Given the description of an element on the screen output the (x, y) to click on. 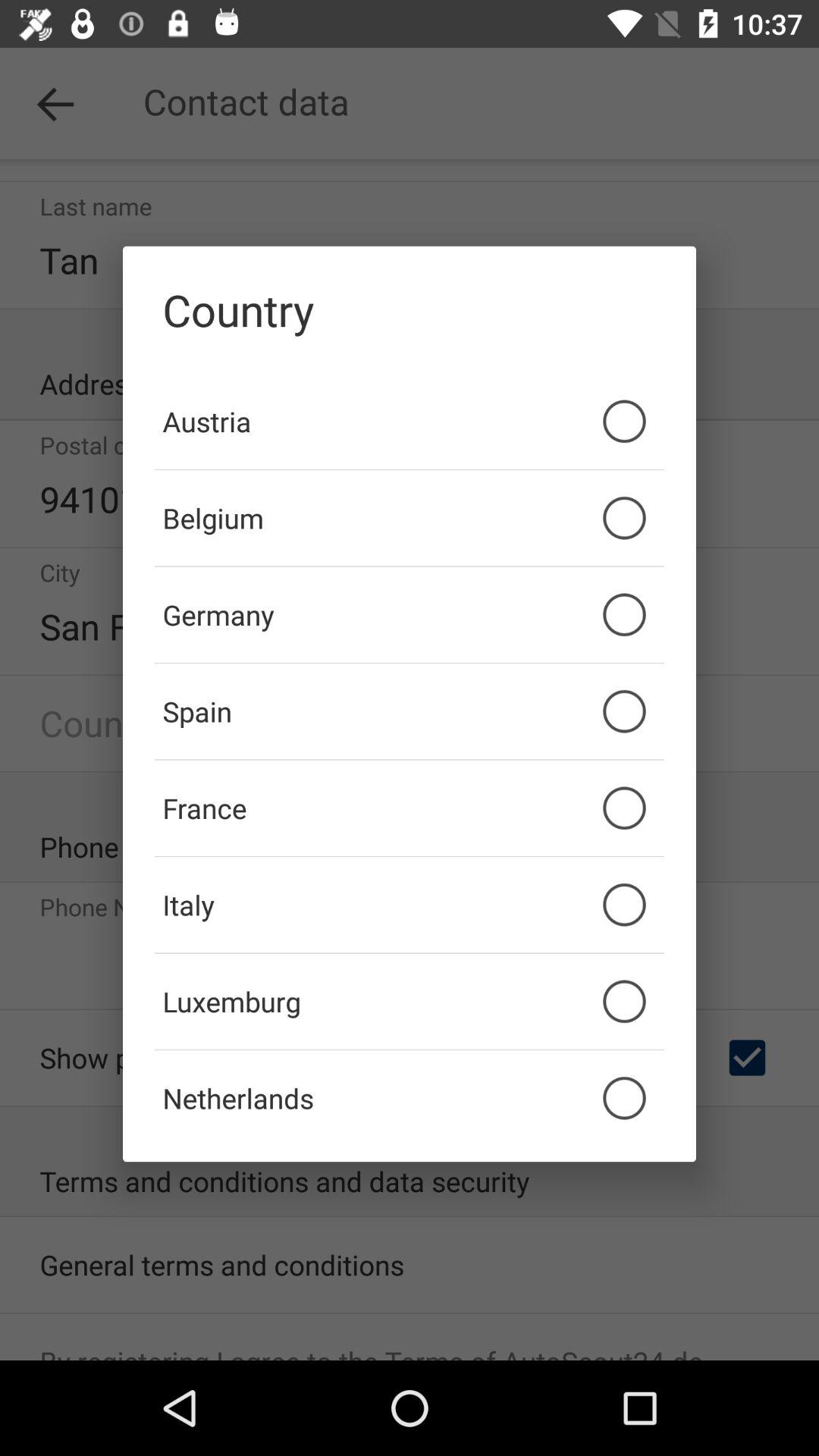
press the luxemburg item (409, 1001)
